Given the description of an element on the screen output the (x, y) to click on. 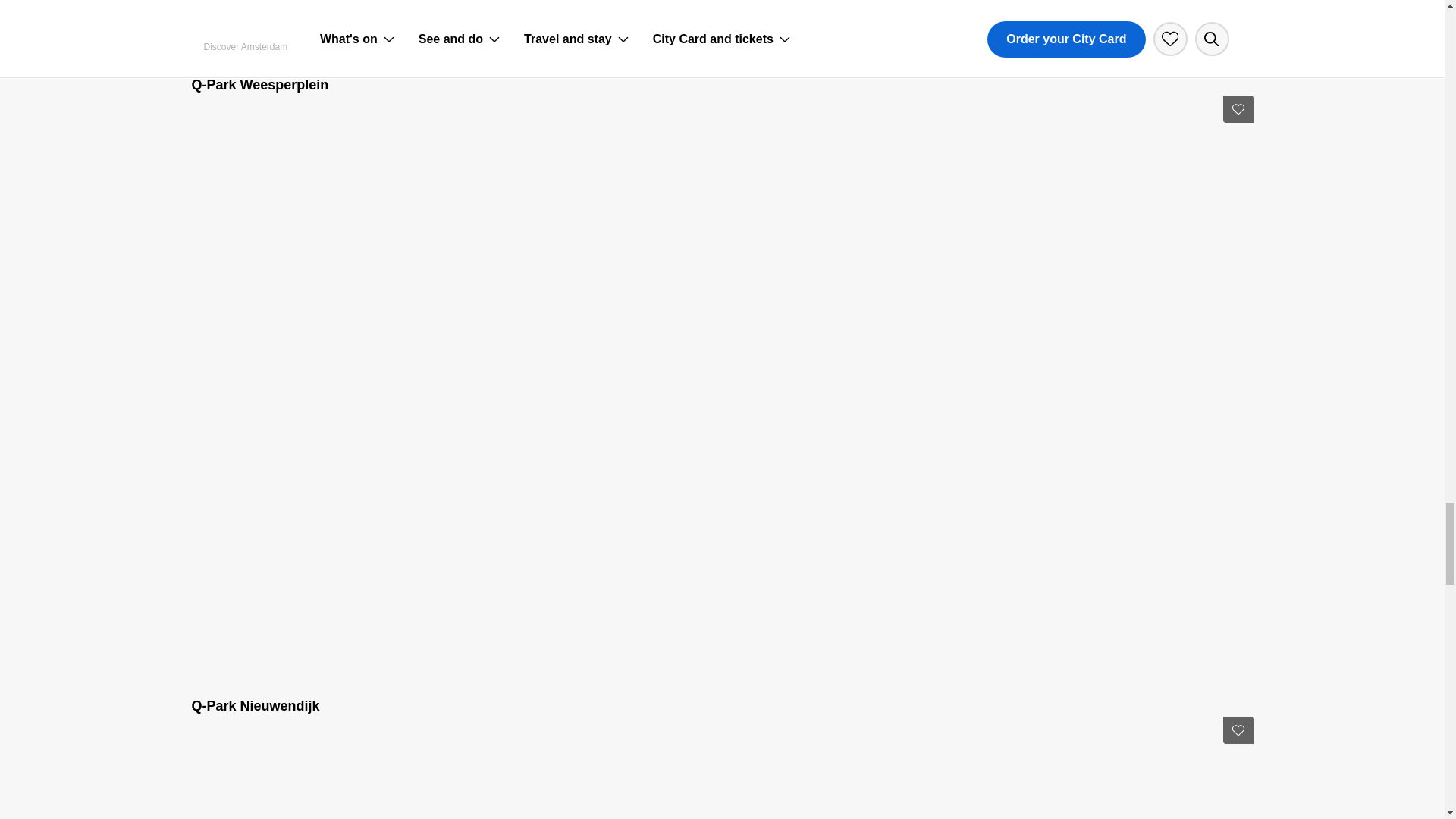
Add to favourites (1237, 108)
Add to favourites (1237, 729)
